Given the description of an element on the screen output the (x, y) to click on. 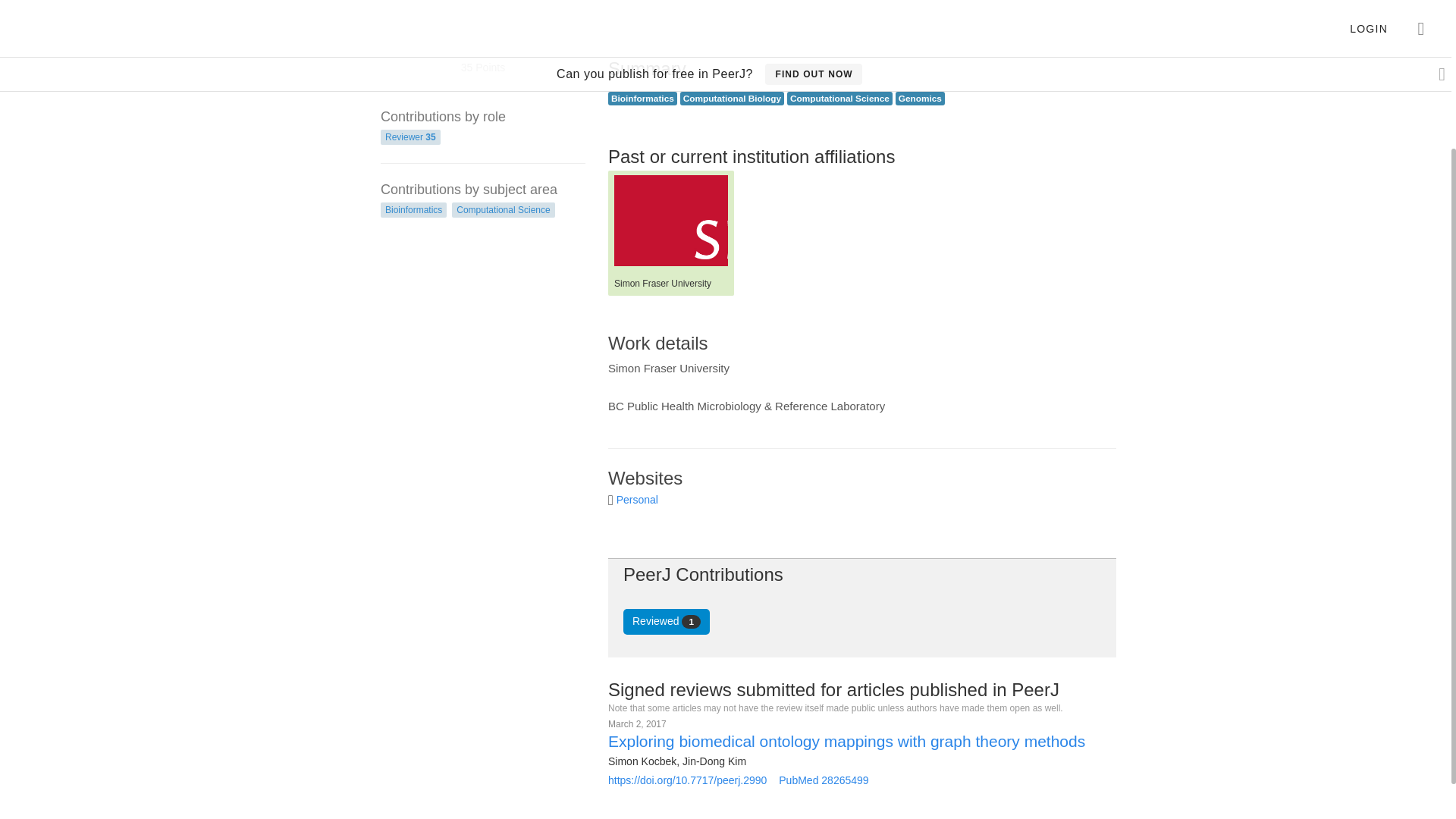
Reviewer 35 (410, 136)
PubMed 28265499 (822, 779)
Computational Biology (731, 98)
Reviewed 1 (666, 621)
Personal (636, 499)
Simon Fraser University (671, 220)
Bioinformatics (413, 209)
Bioinformatics (642, 98)
Genomics (920, 98)
Personal (636, 499)
Computational Science (502, 209)
Computational Science (839, 98)
